Given the description of an element on the screen output the (x, y) to click on. 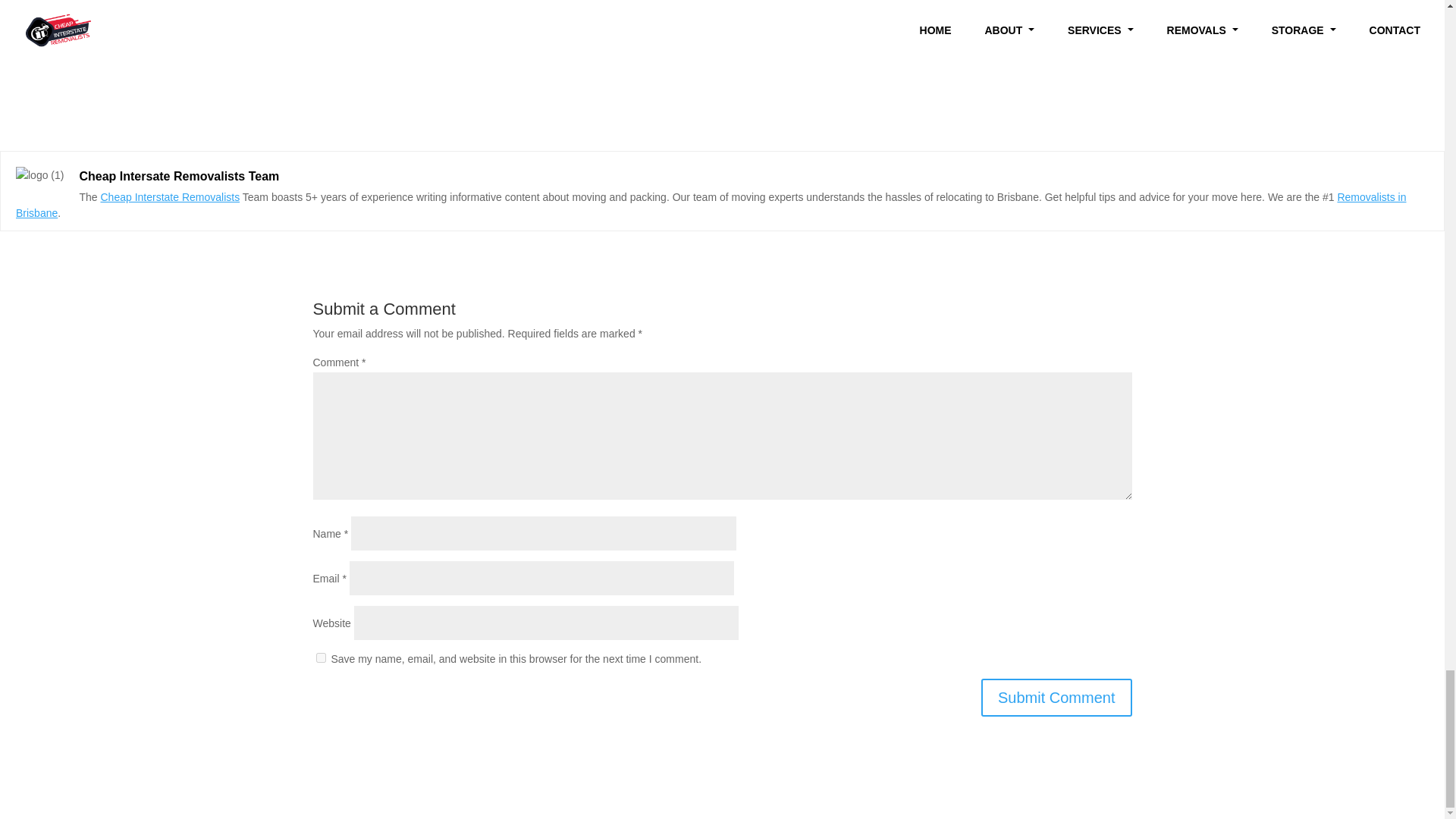
Submit Comment (1056, 697)
yes (319, 657)
10 Things You Must Know About Interstate Movers 4 (40, 176)
